Given the description of an element on the screen output the (x, y) to click on. 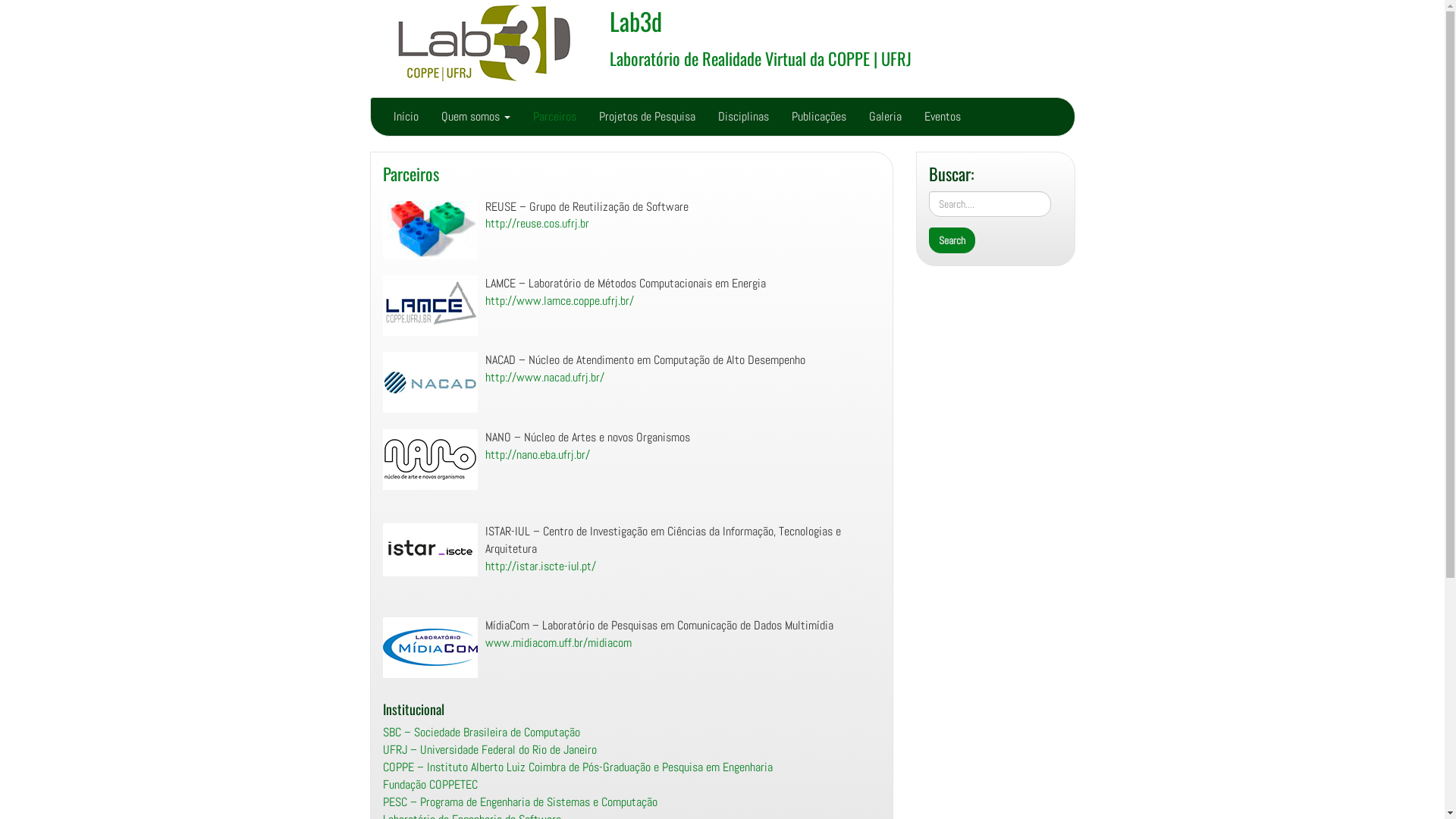
http://reuse.cos.ufrj.br Element type: text (537, 223)
Disciplinas Element type: text (743, 116)
Projetos de Pesquisa Element type: text (646, 116)
www.midiacom.uff.br/midiacom Element type: text (558, 642)
Galeria Element type: text (884, 116)
Search Element type: text (951, 240)
http://nano.eba.ufrj.br/ Element type: text (537, 454)
Parceiros Element type: text (410, 172)
Lab3d Element type: text (635, 20)
Eventos Element type: text (942, 116)
http://istar.iscte-iul.pt/ Element type: text (540, 566)
Quem somos Element type: text (474, 116)
http://www.nacad.ufrj.br/ Element type: text (544, 377)
http://www.lamce.coppe.ufrj.br/ Element type: text (559, 300)
Parceiros Element type: text (554, 116)
